Given the description of an element on the screen output the (x, y) to click on. 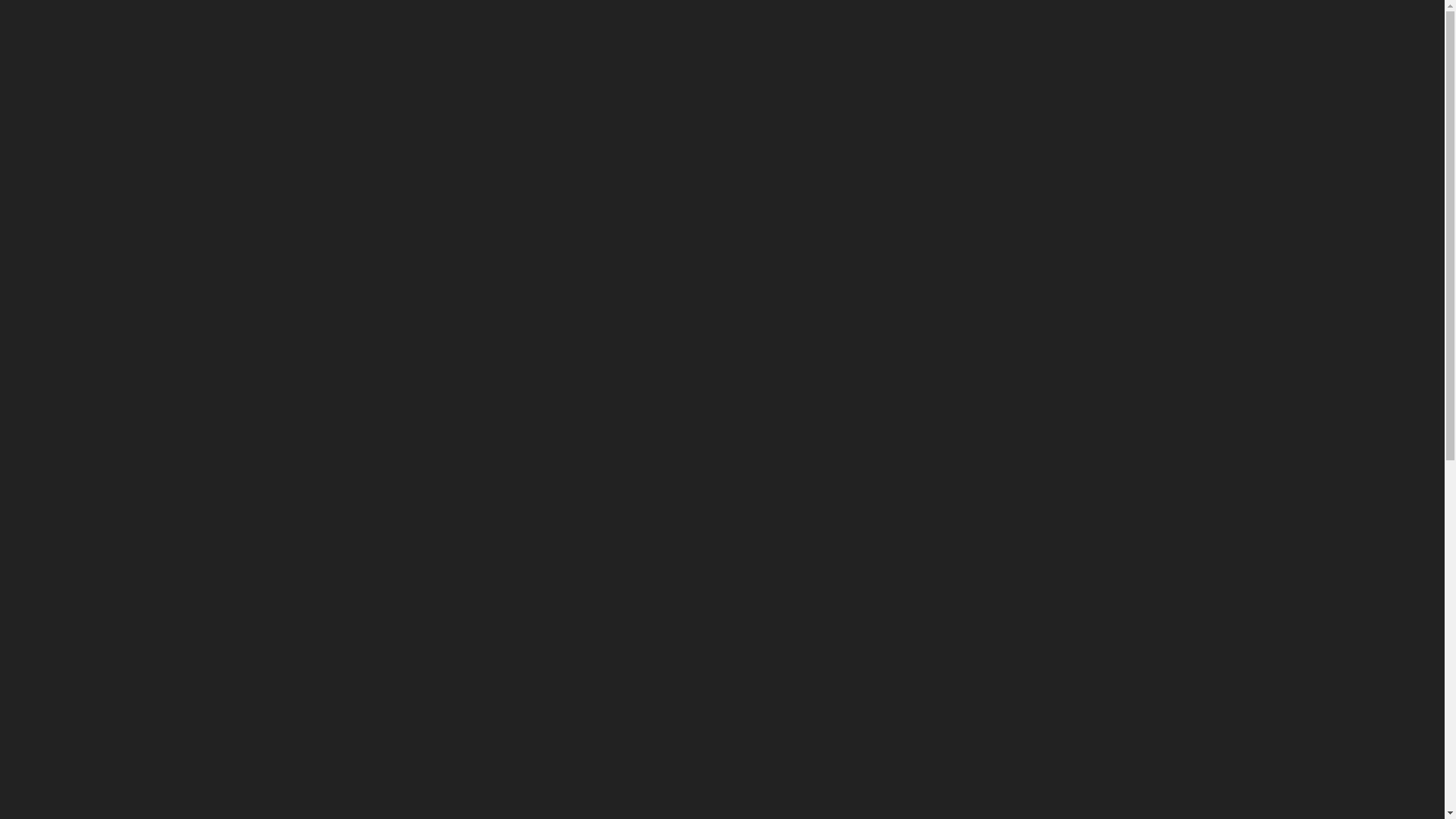
Marken Element type: text (886, 27)
Heimwerken Element type: text (396, 65)
Buchhaltung Element type: text (900, 309)
Arnold Winkler AG Element type: hover (276, 22)
Bauen & Sanieren Element type: text (643, 65)
contact(at)arwin.ch Element type: text (252, 275)
Karriere Element type: text (1001, 27)
Kontakt Element type: text (206, 104)
Auto & Camping Element type: text (767, 65)
Haus, Hof & Garten Element type: text (512, 65)
Kontakt Element type: text (250, 104)
Kontakt Element type: text (1064, 27)
Werkstatt & Garage Element type: text (279, 65)
News Element type: text (942, 27)
Jetzt registrieren Element type: text (363, 735)
Verkauf Element type: text (900, 227)
Logistik/Service Element type: text (900, 349)
Einkauf Element type: text (900, 268)
